Given the description of an element on the screen output the (x, y) to click on. 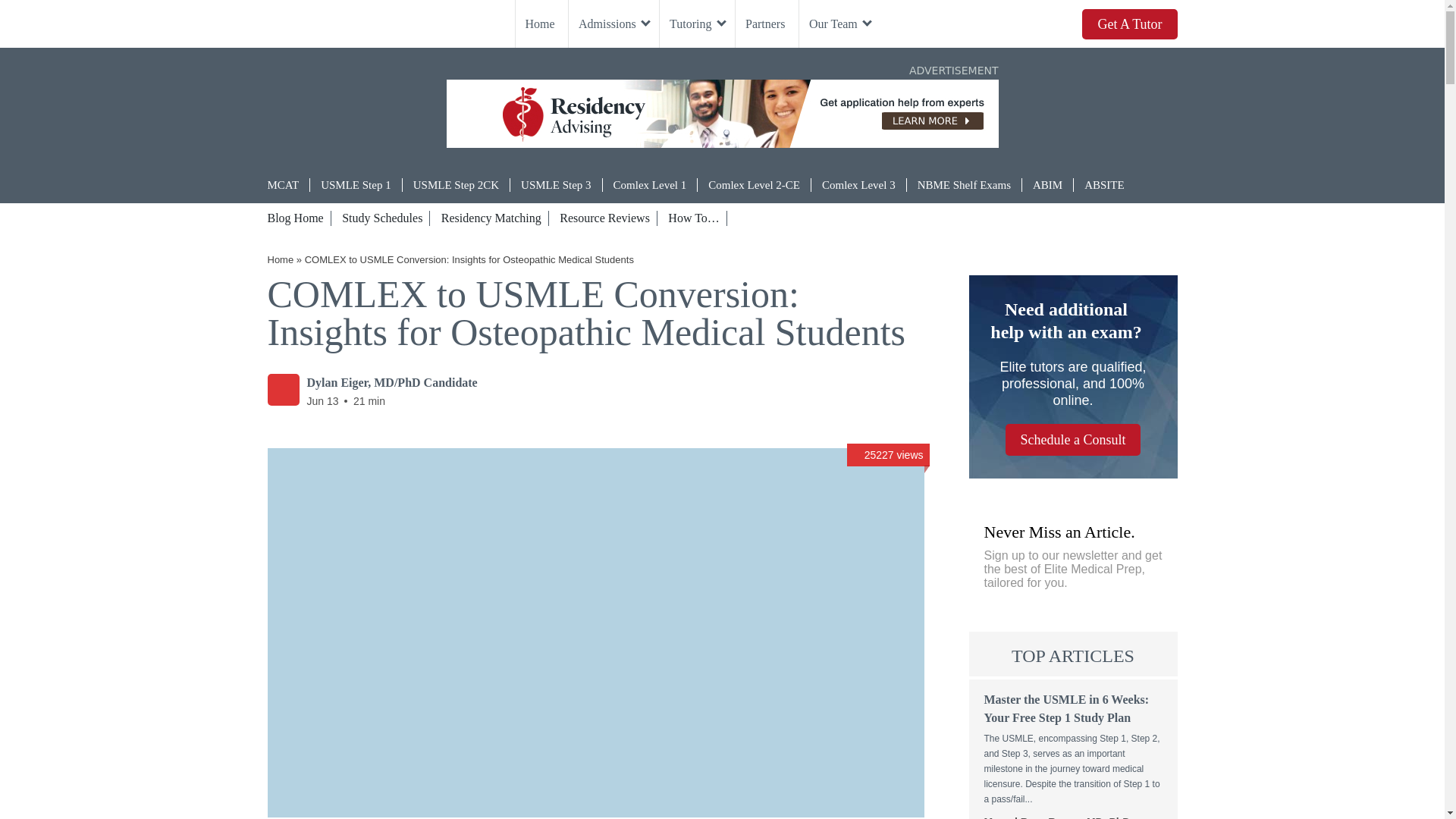
Get A Tutor (1128, 24)
Admissions (612, 23)
Our Team (838, 23)
Tutoring (694, 23)
